Given the description of an element on the screen output the (x, y) to click on. 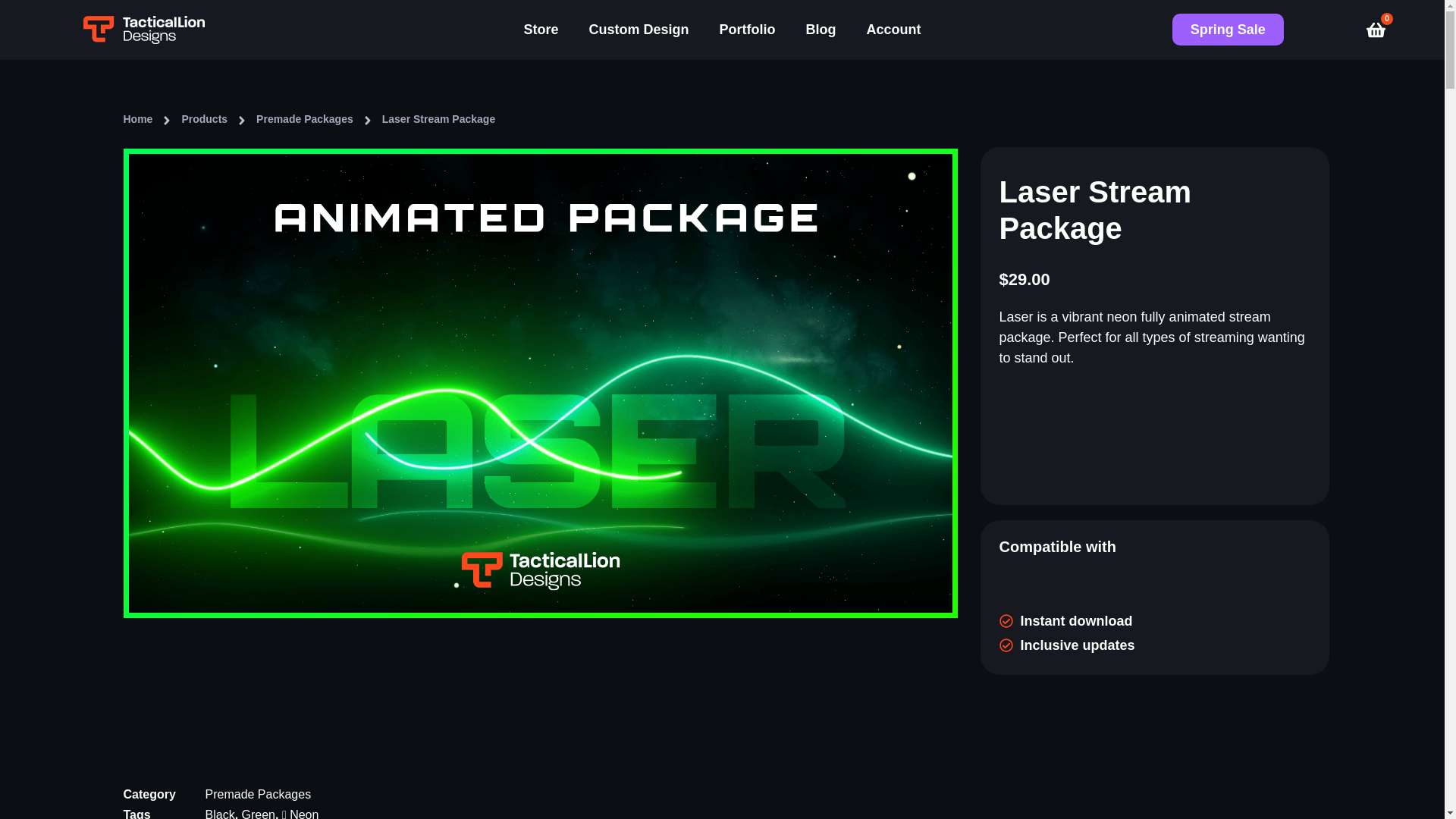
View your shopping cart (1372, 29)
37491 (1154, 434)
Blog (820, 29)
0 (1372, 29)
Account (893, 29)
Premade Packages (258, 793)
Home (137, 118)
Home (137, 118)
Store (540, 29)
Products (203, 118)
Products (203, 118)
Green (258, 813)
Laser Stream Package (438, 118)
Black (219, 813)
Custom Design (638, 29)
